Given the description of an element on the screen output the (x, y) to click on. 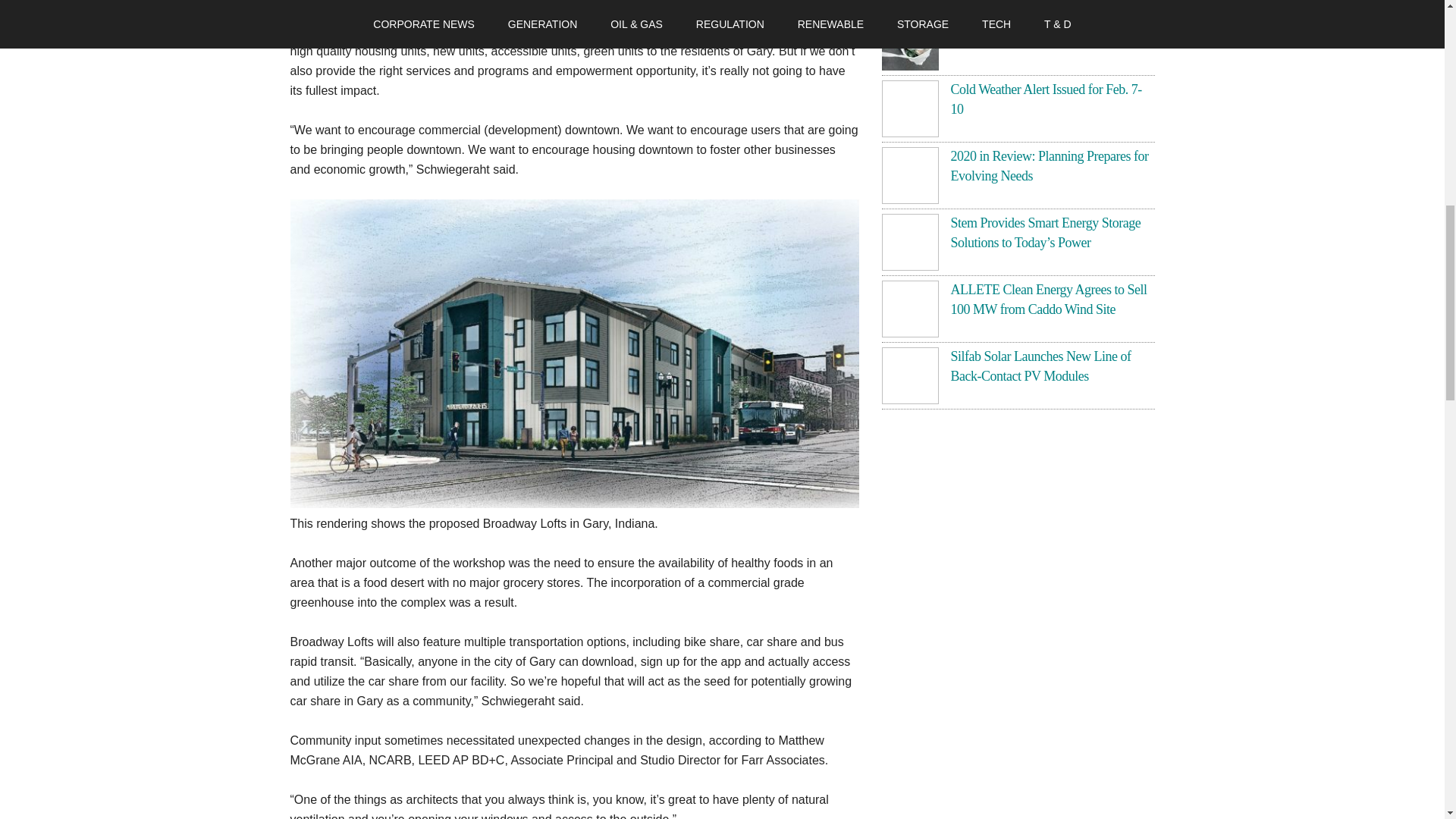
Quick Tips To A Sustainable Future (1041, 22)
Cold Weather Alert Issued for Feb. 7-10 (1045, 99)
